Given the description of an element on the screen output the (x, y) to click on. 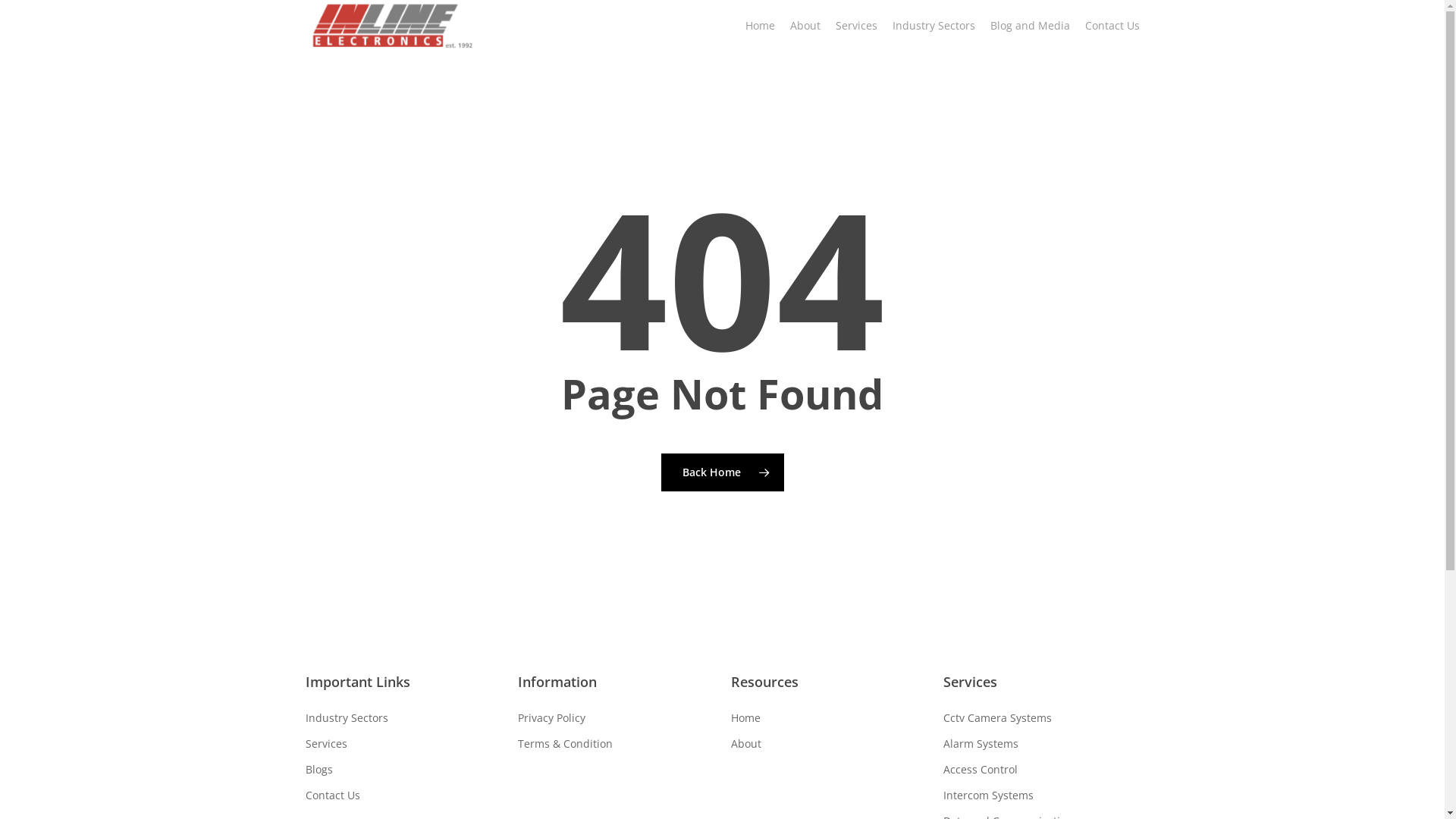
Access Control Element type: text (1041, 769)
Back Home Element type: text (722, 472)
Home Element type: text (759, 25)
Blog and Media Element type: text (1030, 25)
Home Element type: text (829, 718)
Industry Sectors Element type: text (402, 718)
Cctv Camera Systems Element type: text (1041, 718)
Intercom Systems Element type: text (1041, 795)
Services Element type: text (402, 743)
Terms & Condition Element type: text (615, 743)
Alarm Systems Element type: text (1041, 743)
Contact Us Element type: text (402, 795)
Privacy Policy Element type: text (615, 718)
About Element type: text (829, 743)
Contact Us Element type: text (1111, 25)
About Element type: text (805, 25)
Blogs Element type: text (402, 769)
Industry Sectors Element type: text (932, 25)
Services Element type: text (856, 25)
